Given the description of an element on the screen output the (x, y) to click on. 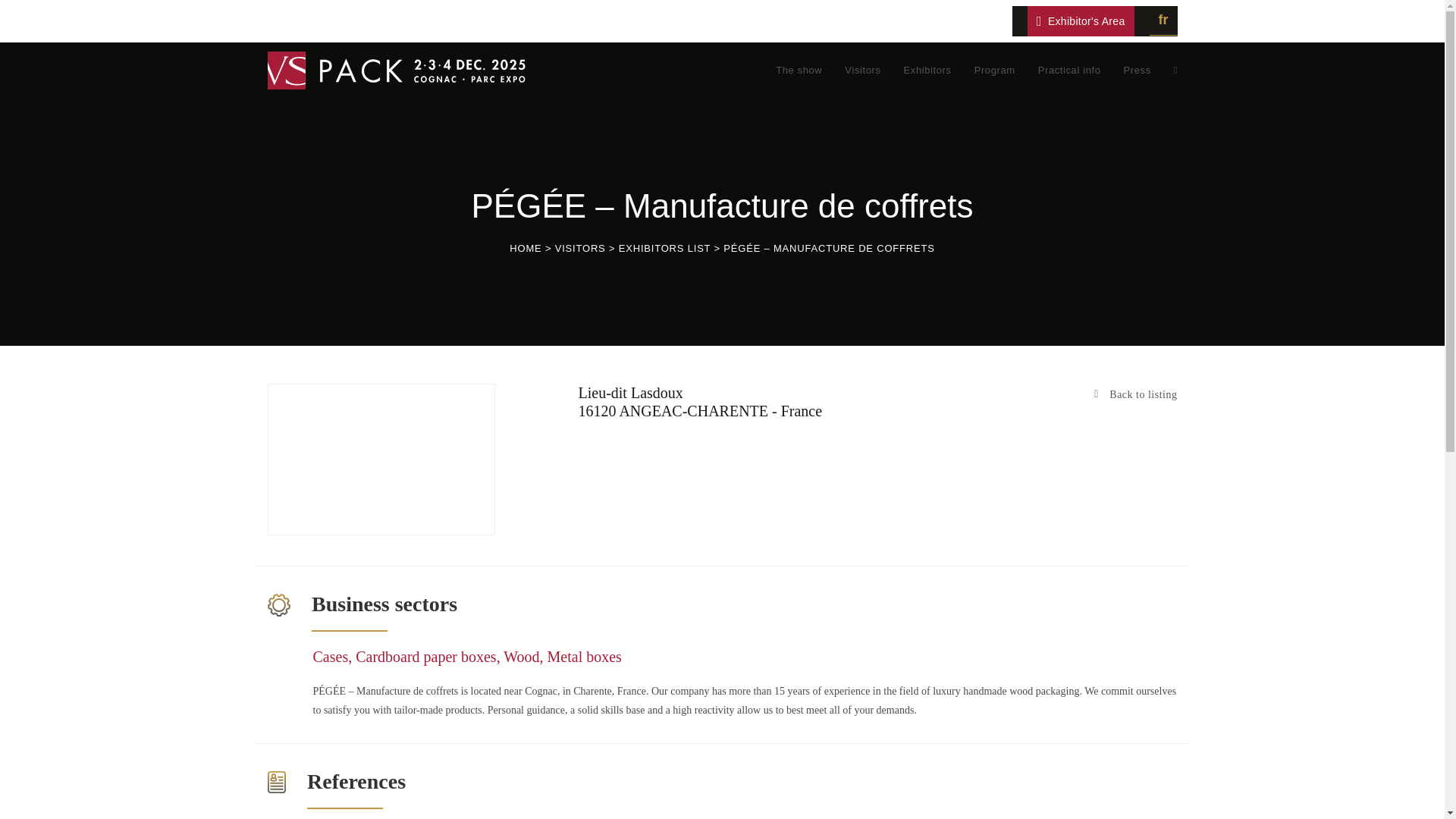
Press (1136, 70)
Exhibitor's Area (1080, 20)
Program (994, 70)
fr (1163, 20)
The show (798, 70)
Practical info (1069, 70)
Exhibitors (927, 70)
Visitors (861, 70)
